Given the description of an element on the screen output the (x, y) to click on. 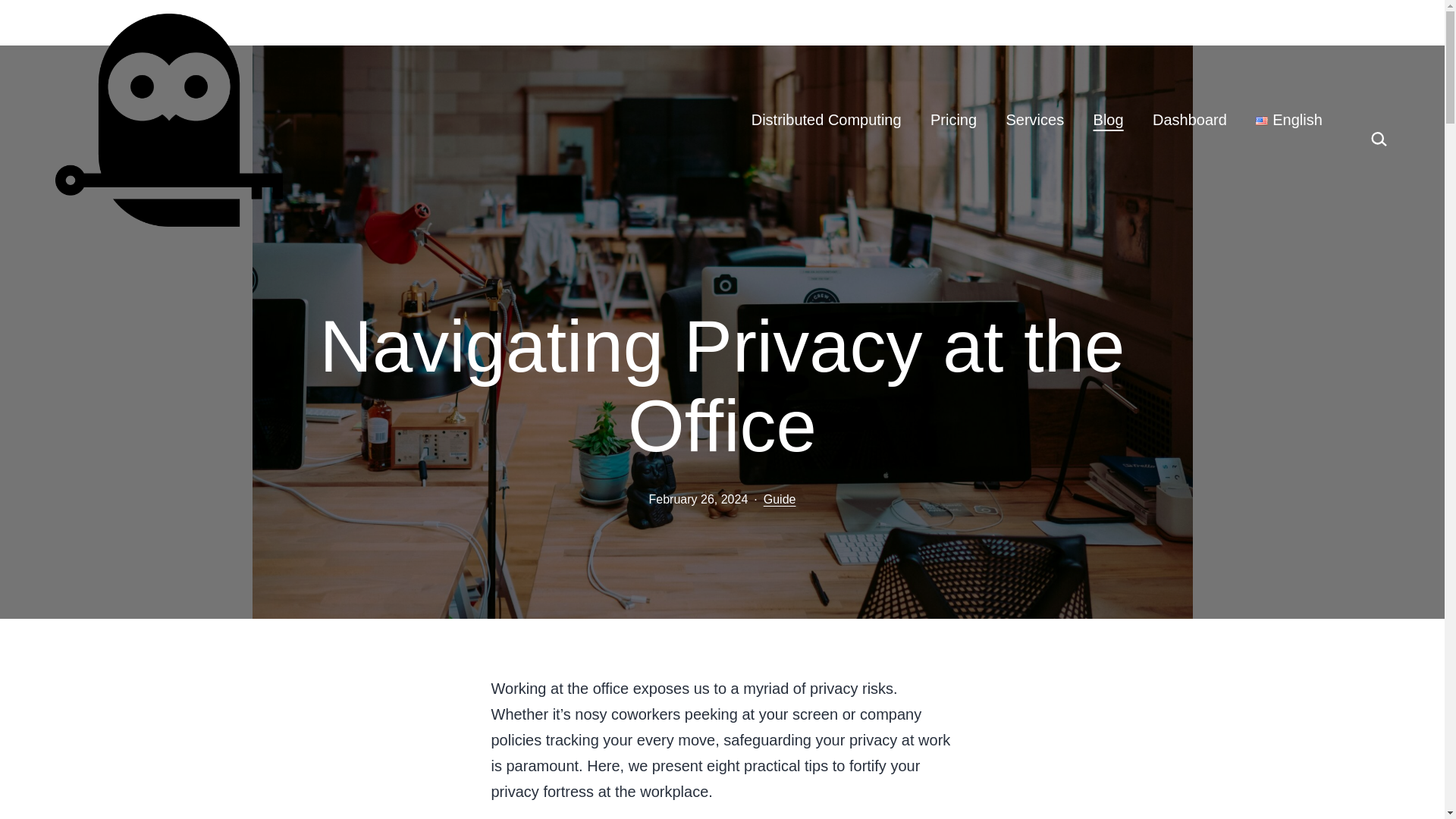
Services (1034, 119)
Pricing (953, 119)
Guide (779, 499)
English (1289, 119)
Blog (1107, 119)
Distributed Computing (826, 119)
Dashboard (1189, 119)
